Given the description of an element on the screen output the (x, y) to click on. 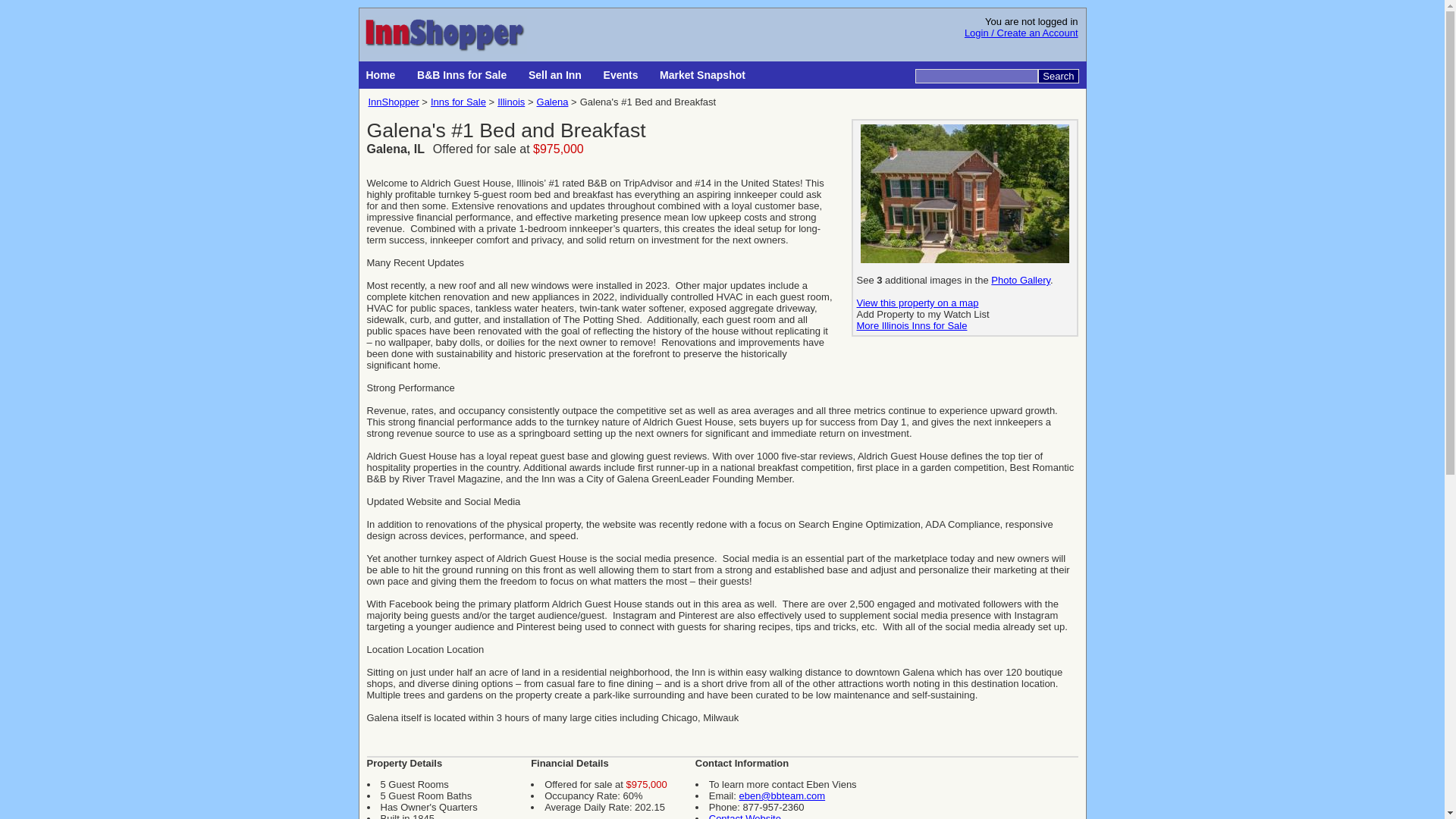
Home (382, 74)
View this property on a map (917, 302)
Inns for Sale (458, 101)
Search (1058, 75)
More Illinois Inns for Sale (912, 325)
InnShopper (393, 101)
Market Snapshot (704, 74)
Events (622, 74)
Illinois (510, 101)
Sell an Inn (556, 74)
Photo Gallery (1020, 279)
Contact Website (744, 816)
Galena (553, 101)
Add Property to my Watch List (923, 314)
